Given the description of an element on the screen output the (x, y) to click on. 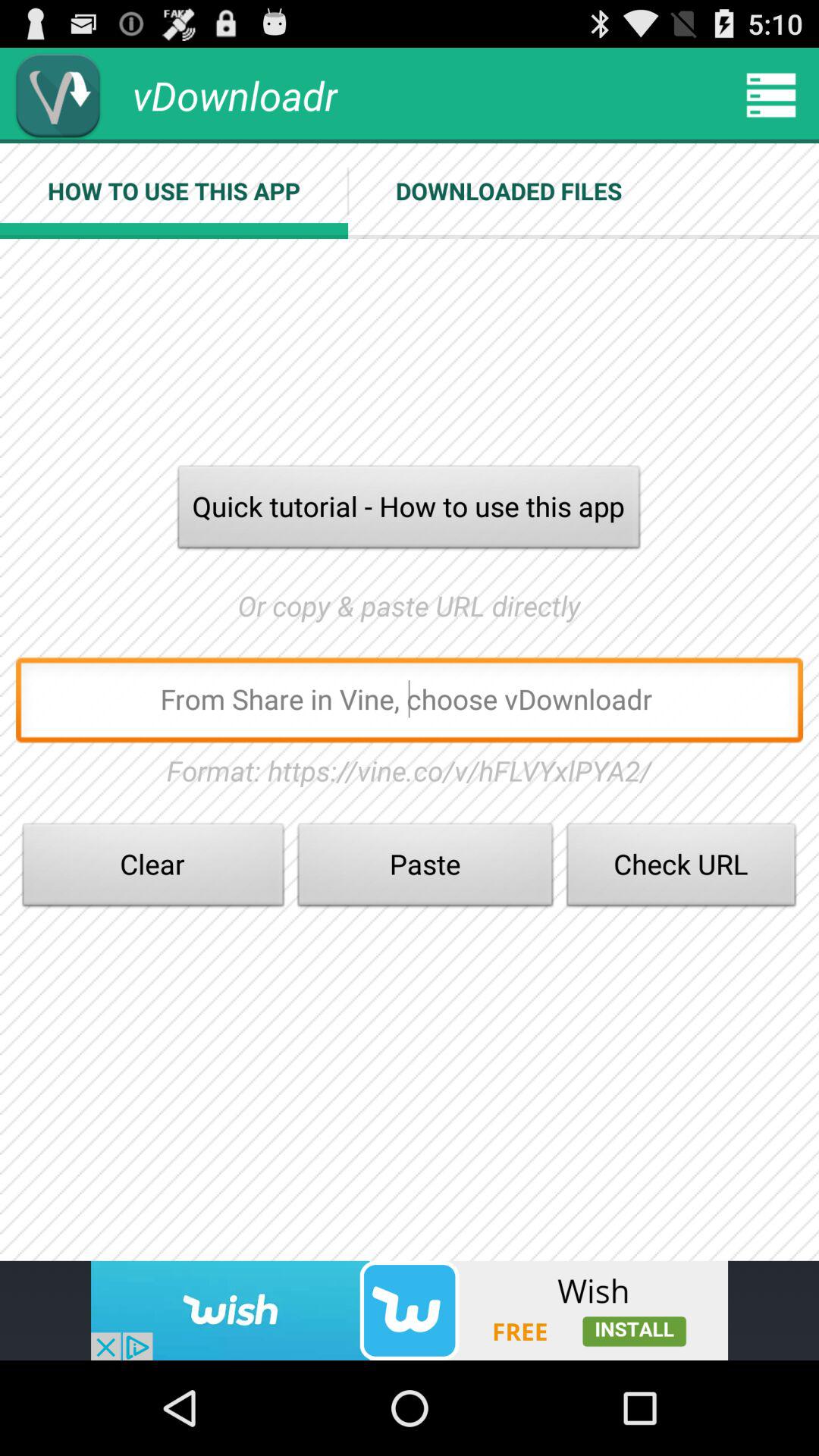
vdownloadr (58, 95)
